Given the description of an element on the screen output the (x, y) to click on. 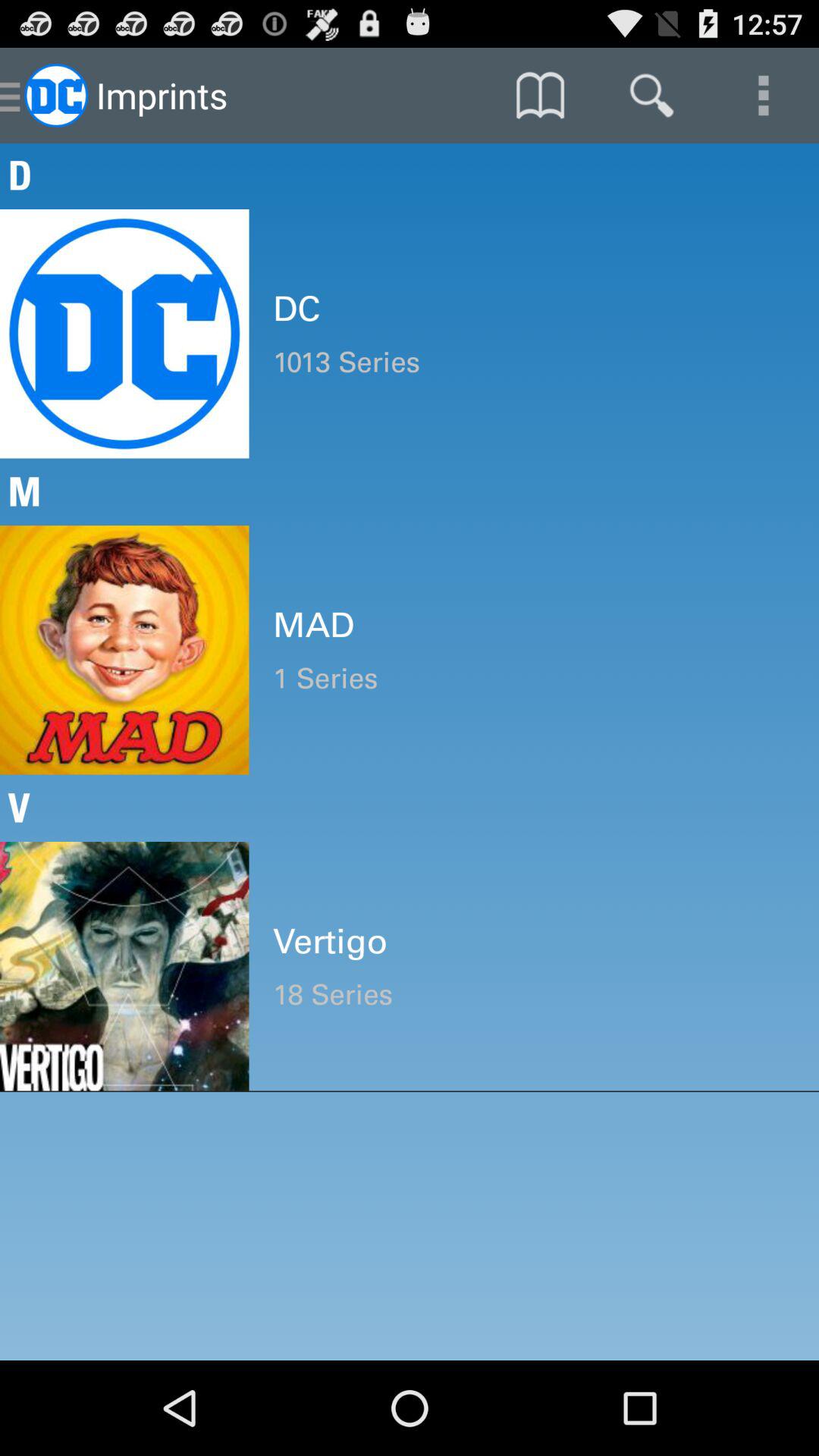
swipe to dc (534, 308)
